Given the description of an element on the screen output the (x, y) to click on. 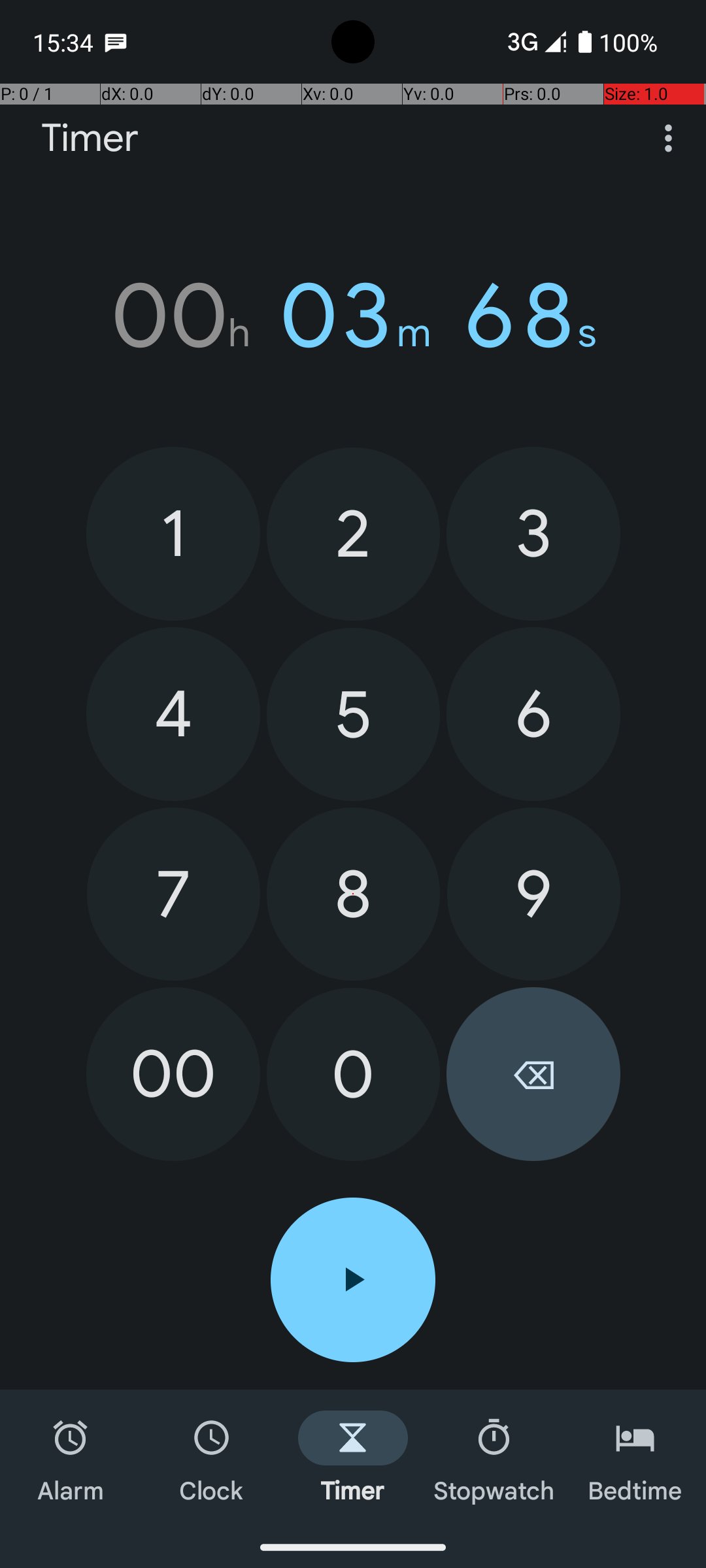
00h 03m 68s Element type: android.widget.TextView (353, 315)
